Given the description of an element on the screen output the (x, y) to click on. 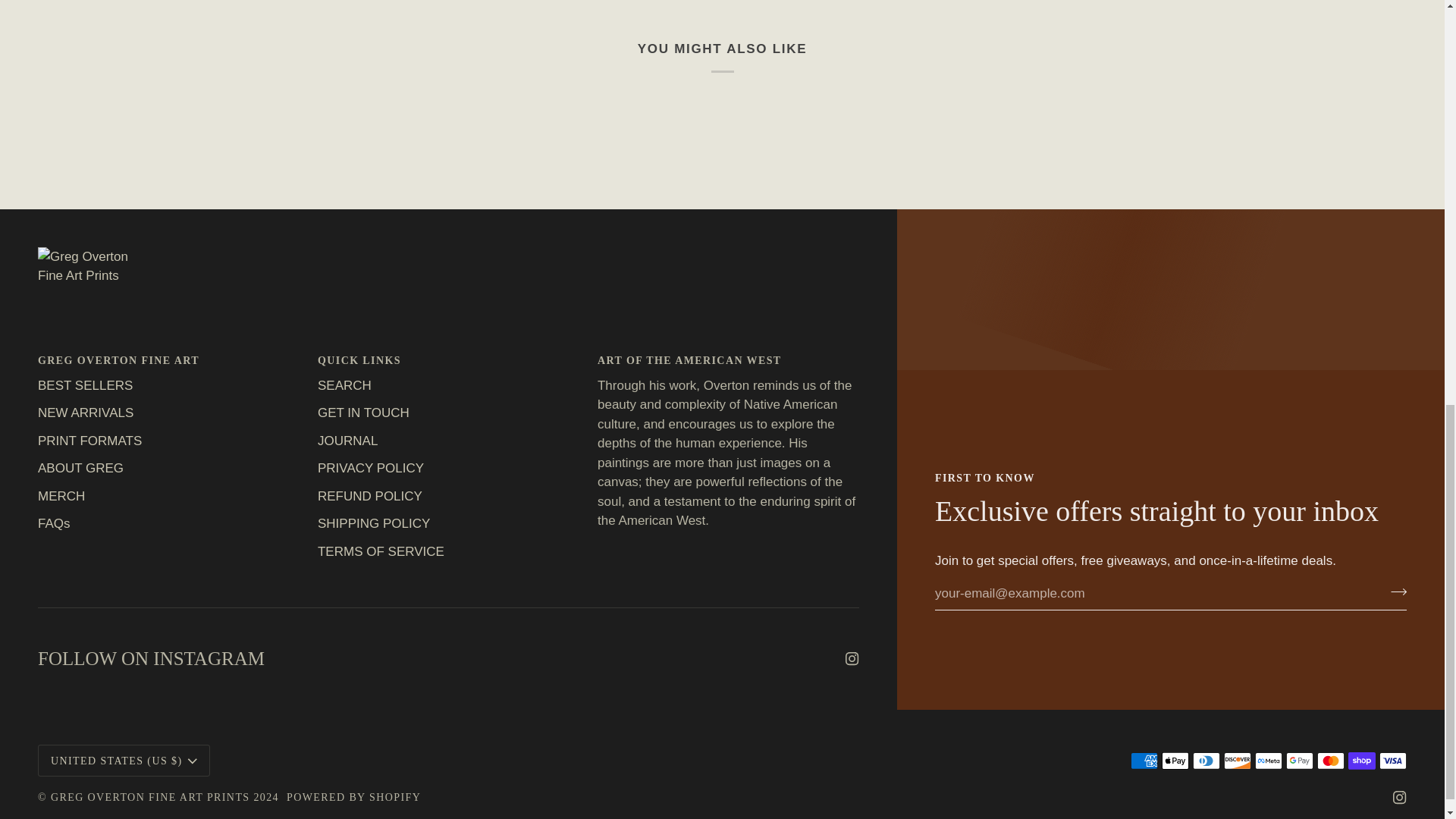
DINERS CLUB (1206, 760)
VISA (1392, 760)
DISCOVER (1237, 760)
META PAY (1268, 760)
SHOP PAY (1361, 760)
AMERICAN EXPRESS (1144, 760)
APPLE PAY (1175, 760)
GOOGLE PAY (1299, 760)
MASTERCARD (1330, 760)
Instagram (852, 658)
Instagram (1399, 797)
